Given the description of an element on the screen output the (x, y) to click on. 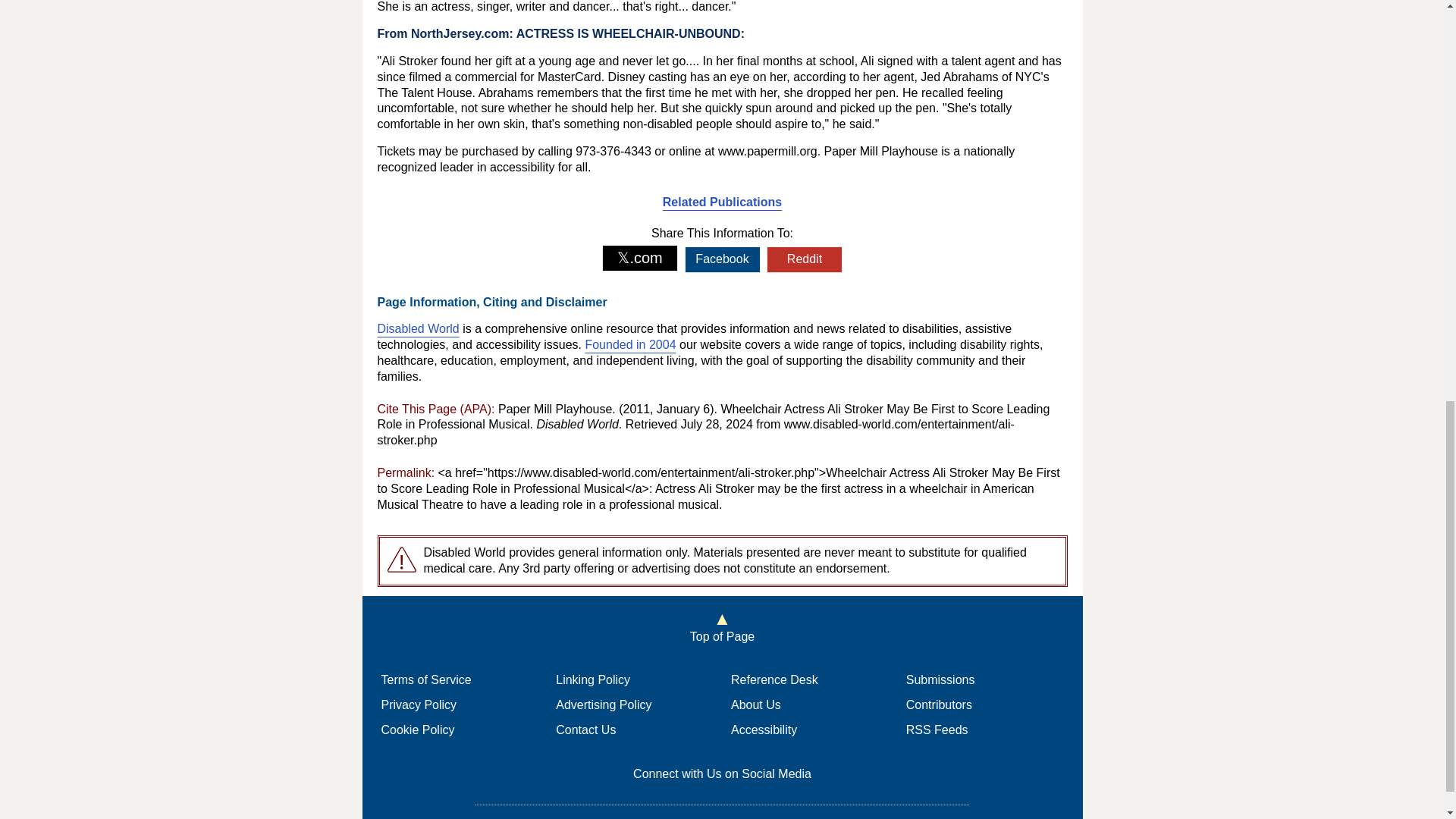
Share on X (640, 257)
Disabled World (418, 328)
Contact Us (585, 729)
Advertising Policy (603, 704)
Privacy Policy (418, 704)
Linking Policy (593, 679)
Cookie Policy (417, 729)
Founded in 2004 (630, 344)
Terms of Service (425, 679)
